Given the description of an element on the screen output the (x, y) to click on. 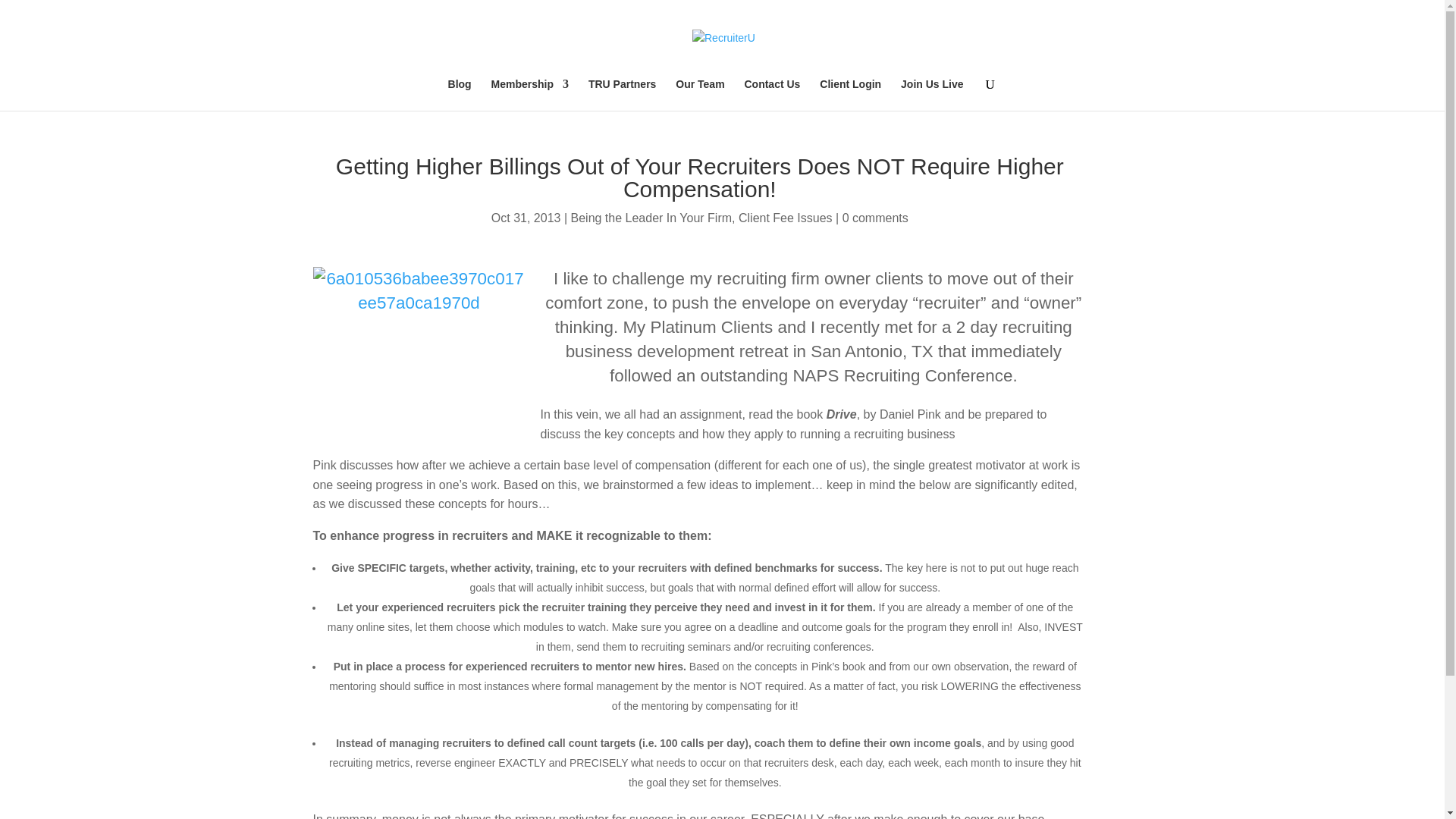
Being the Leader In Your Firm (651, 217)
Membership (530, 94)
Client Login (849, 94)
0 comments (875, 217)
Contact Us (771, 94)
Client Fee Issues (785, 217)
TRU Partners (622, 94)
Join Us Live (931, 94)
Our Team (699, 94)
